Given the description of an element on the screen output the (x, y) to click on. 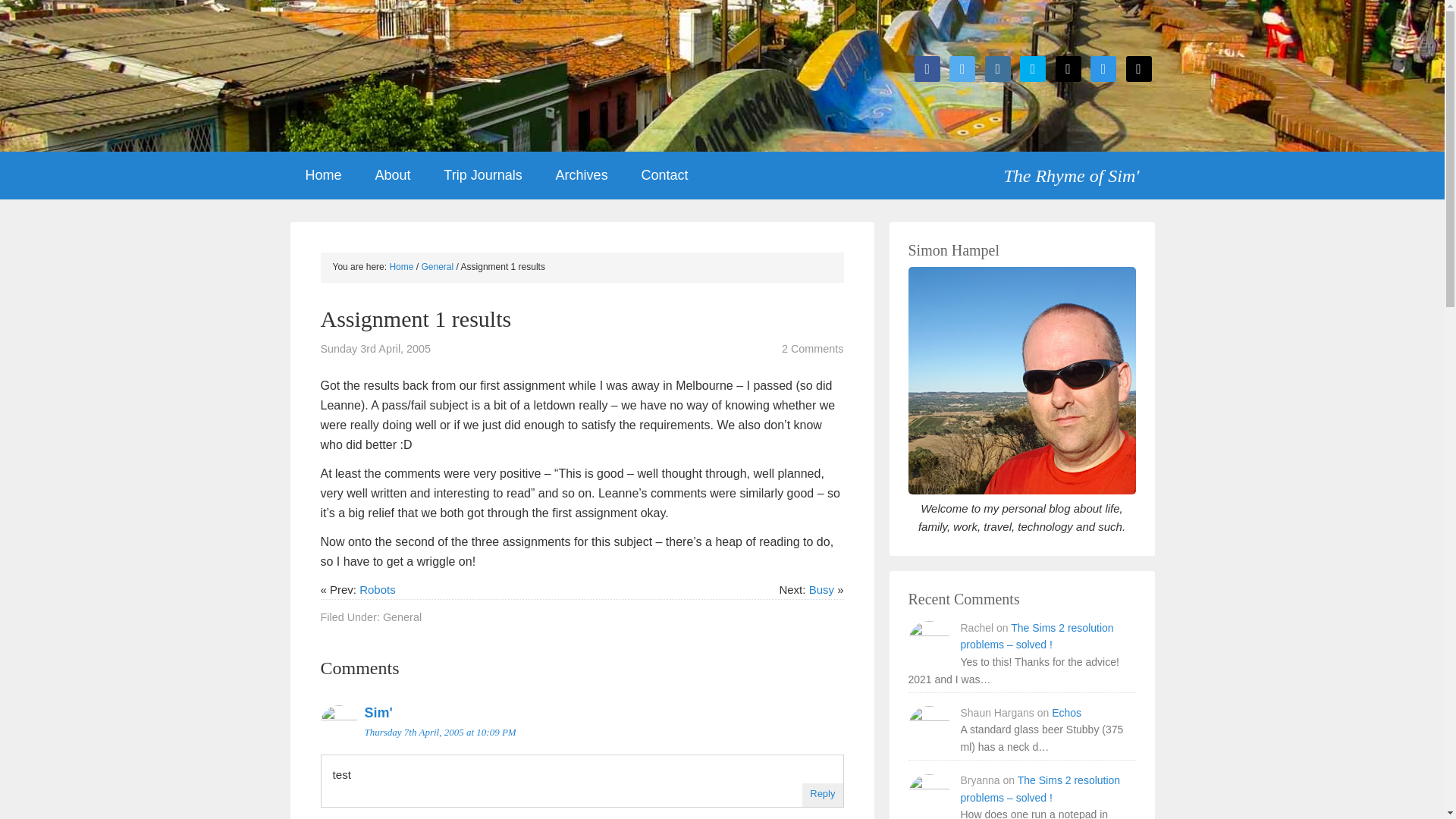
2 Comments (812, 348)
github (1068, 67)
Trip Journals (482, 175)
About (392, 175)
twitter (962, 67)
Busy (821, 589)
Instagram (997, 67)
The Rhyme of Sim' (1078, 170)
Contact (664, 175)
Follow Me (962, 67)
